Given the description of an element on the screen output the (x, y) to click on. 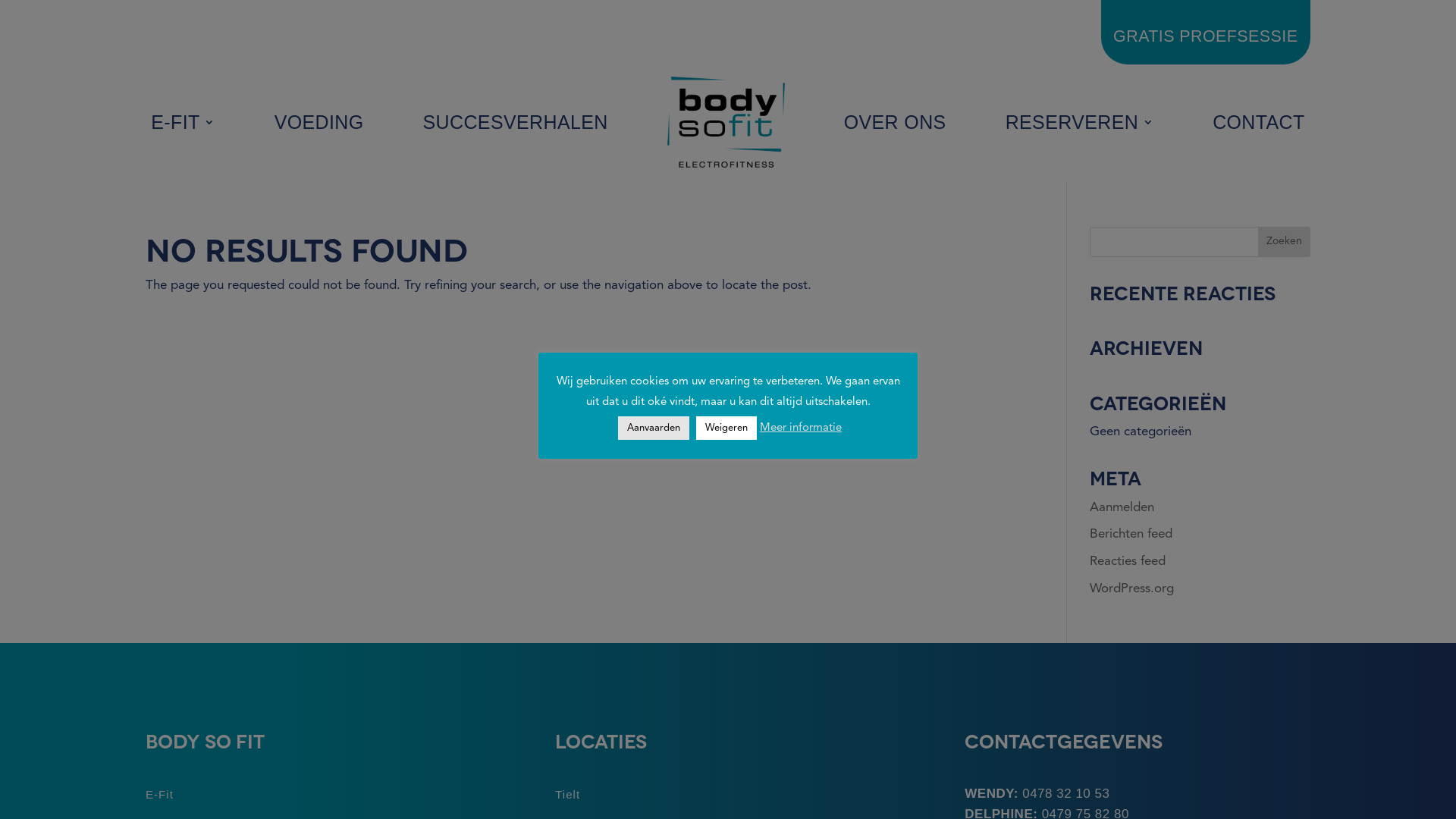
CONTACT Element type: text (1258, 121)
Zoeken Element type: text (1284, 241)
WordPress.org Element type: text (1131, 588)
OVER ONS Element type: text (895, 121)
Berichten feed Element type: text (1130, 533)
VOEDING Element type: text (319, 121)
Tielt Element type: text (567, 793)
Reacties feed Element type: text (1127, 561)
Meer informatie Element type: text (800, 427)
Weigeren Element type: text (726, 427)
Aanvaarden Element type: text (653, 427)
E-Fit Element type: text (159, 793)
Aanmelden Element type: text (1121, 507)
0478 32 10 53 Element type: text (1065, 793)
E-FIT Element type: text (182, 121)
RESERVEREN Element type: text (1079, 121)
SUCCESVERHALEN Element type: text (515, 121)
